Given the description of an element on the screen output the (x, y) to click on. 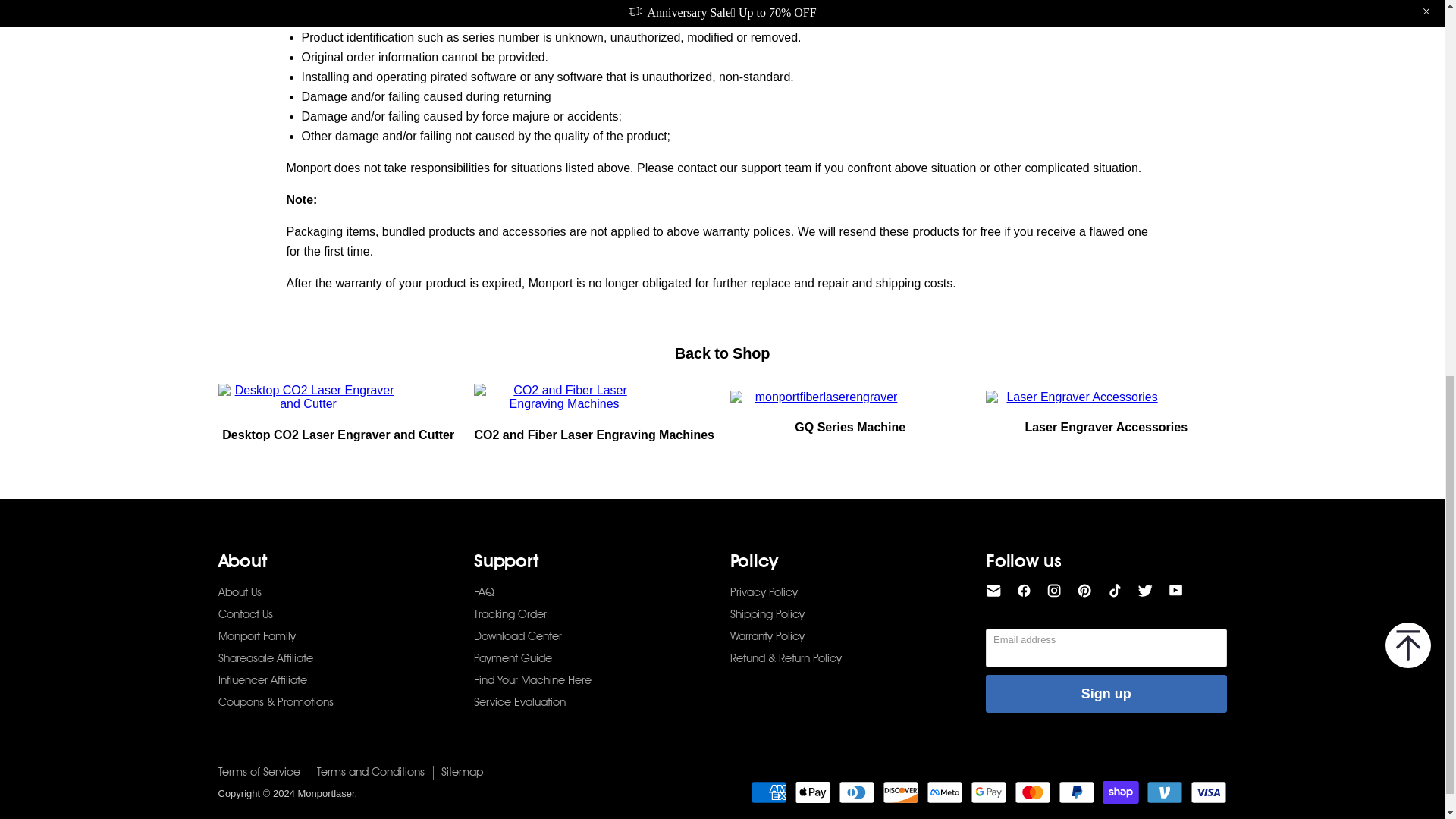
Google Pay (989, 792)
Twitter (1145, 590)
Pinterest (1084, 590)
Email (993, 590)
Meta Pay (944, 792)
Diners Club (856, 792)
Mastercard (1032, 792)
Instagram (1053, 590)
Apple Pay (812, 792)
American Express (769, 792)
Discover (900, 792)
PayPal (1076, 792)
YouTube (1174, 590)
TikTok (1114, 590)
Facebook (1023, 590)
